Given the description of an element on the screen output the (x, y) to click on. 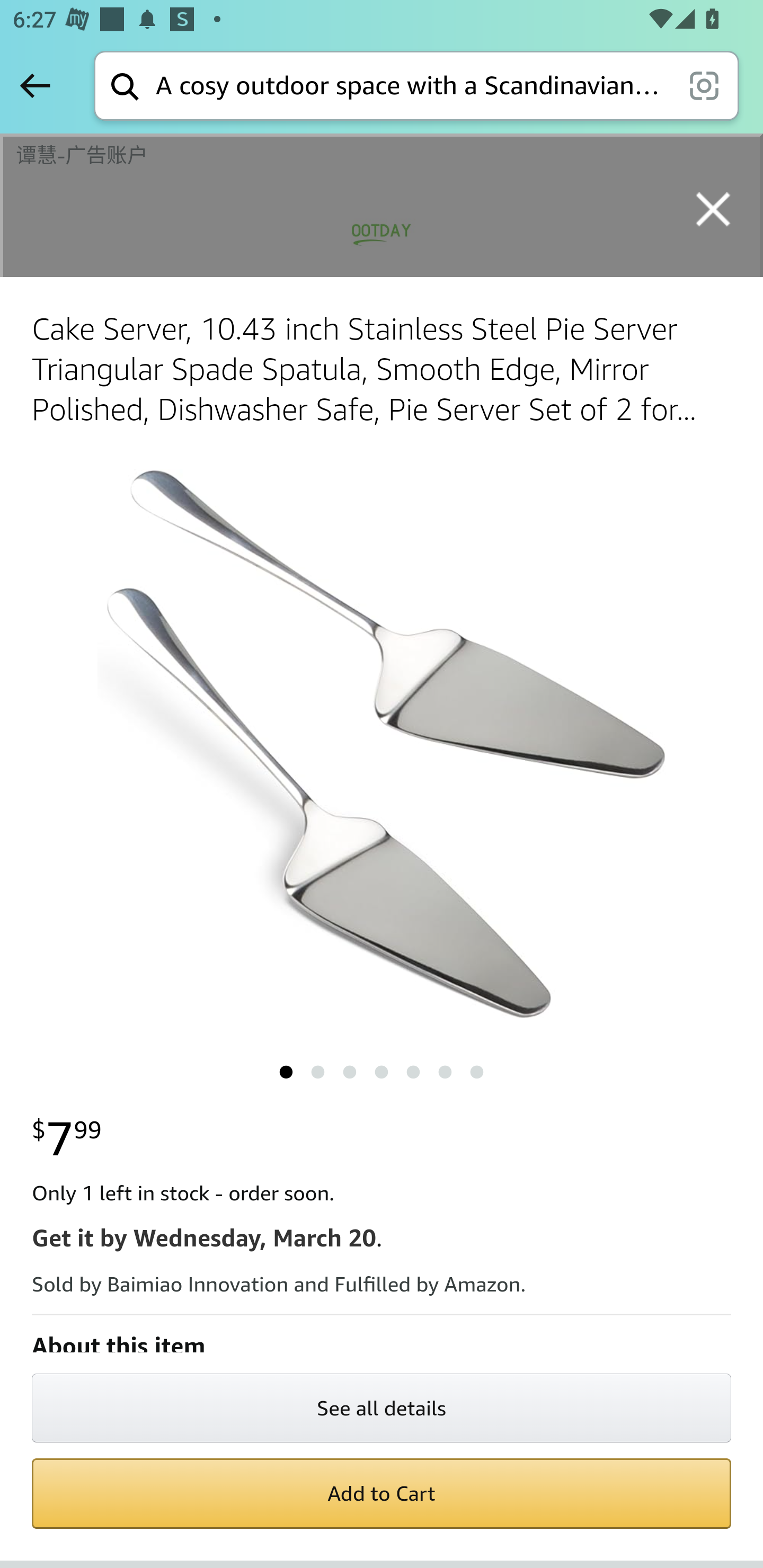
Back (35, 85)
scan it (704, 85)
